Given the description of an element on the screen output the (x, y) to click on. 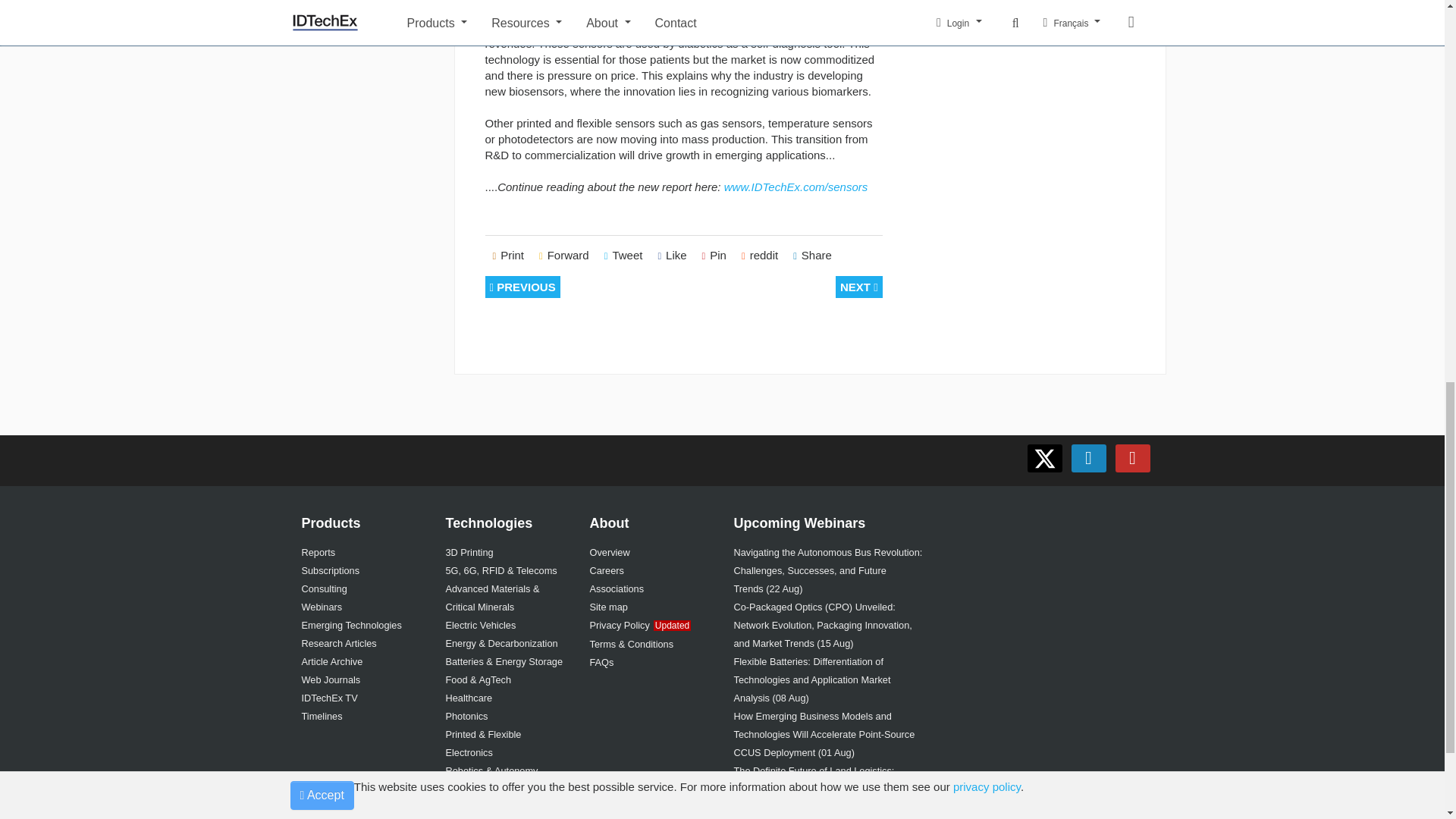
Webinars (321, 606)
Share on LinkedIn (813, 255)
Web Journals (331, 679)
Article Archive (331, 661)
Share on Facebook (671, 255)
3D Printing (469, 552)
Share on Reddit (759, 255)
Print Article (508, 255)
Consulting (324, 588)
Forward to a Friend (563, 255)
Emerging Technologies (351, 624)
Subscriptions (330, 570)
Timelines (321, 715)
Reports (318, 552)
Research Articles (339, 643)
